Given the description of an element on the screen output the (x, y) to click on. 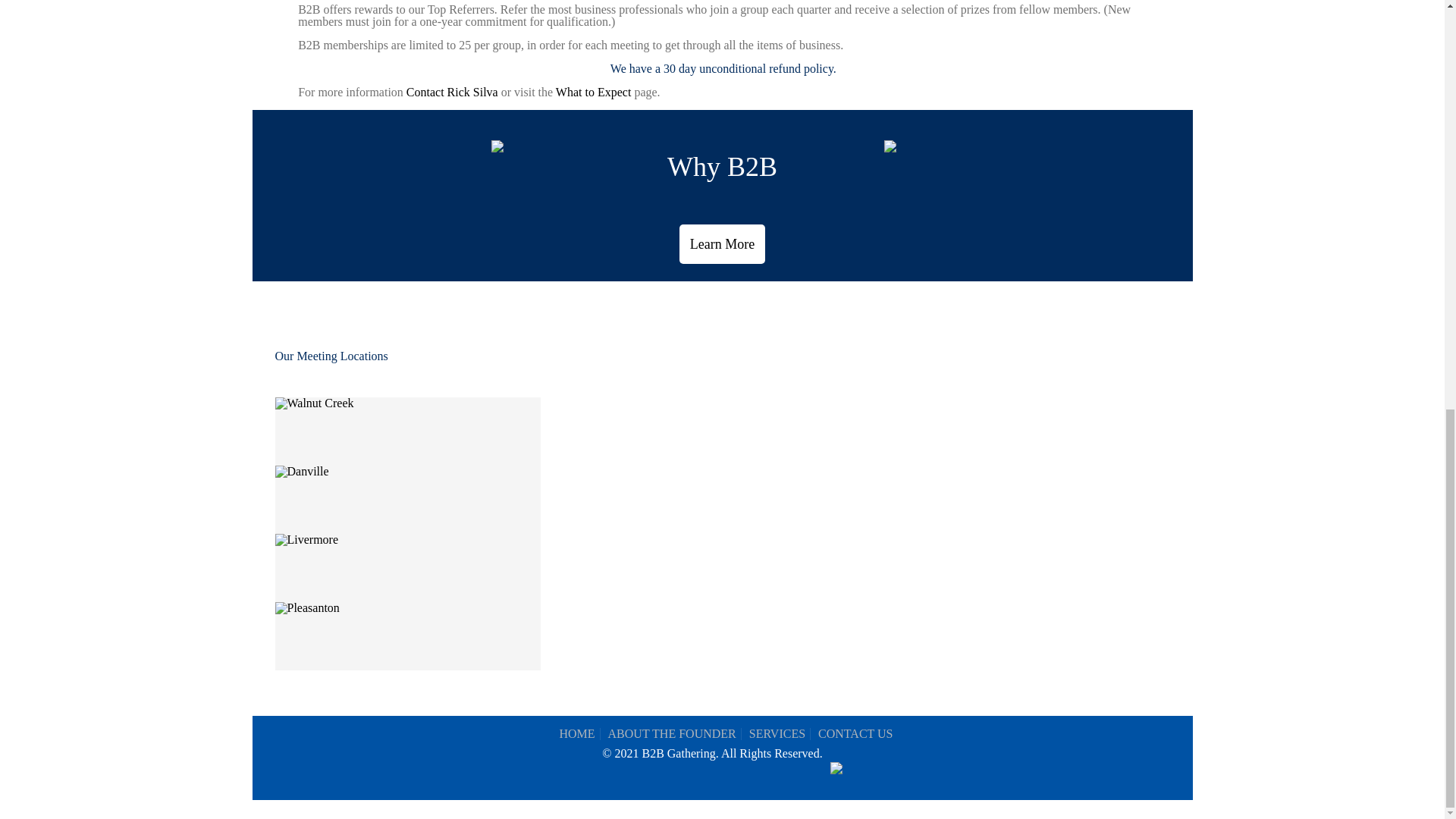
Pleasanton (307, 607)
HOME (576, 733)
ABOUT THE FOUNDER (672, 733)
Learn More (722, 243)
Danville (302, 471)
Livermore (306, 539)
SERVICES (777, 733)
CONTACT US (855, 733)
What to Expect (593, 91)
Walnut Creek (314, 403)
